Given the description of an element on the screen output the (x, y) to click on. 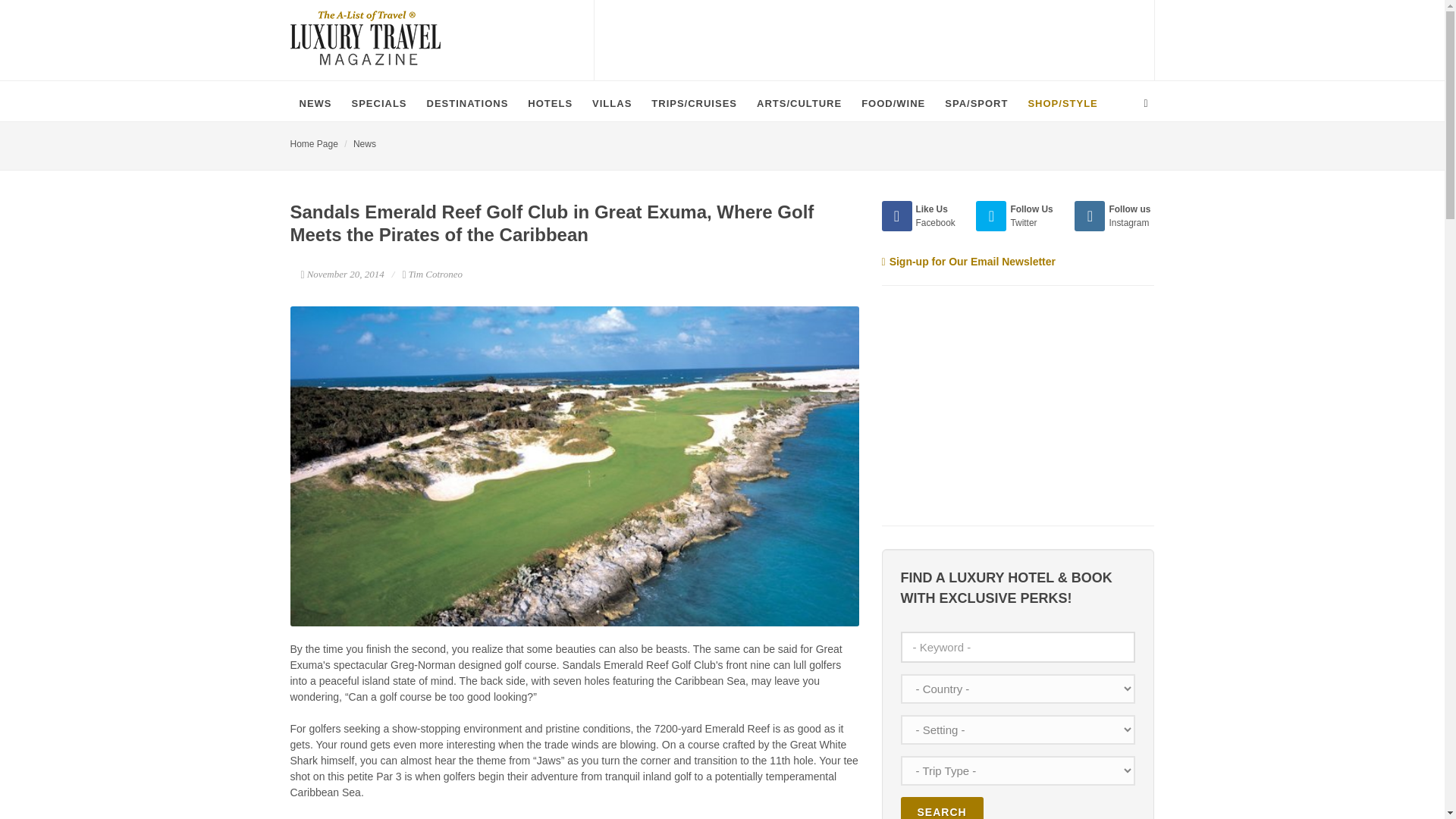
DESTINATIONS (467, 103)
NEWS (314, 103)
Advertisement (994, 402)
VILLAS (611, 103)
HOTELS (549, 103)
Search (942, 807)
Advertisement (873, 38)
SPECIALS (379, 103)
